Given the description of an element on the screen output the (x, y) to click on. 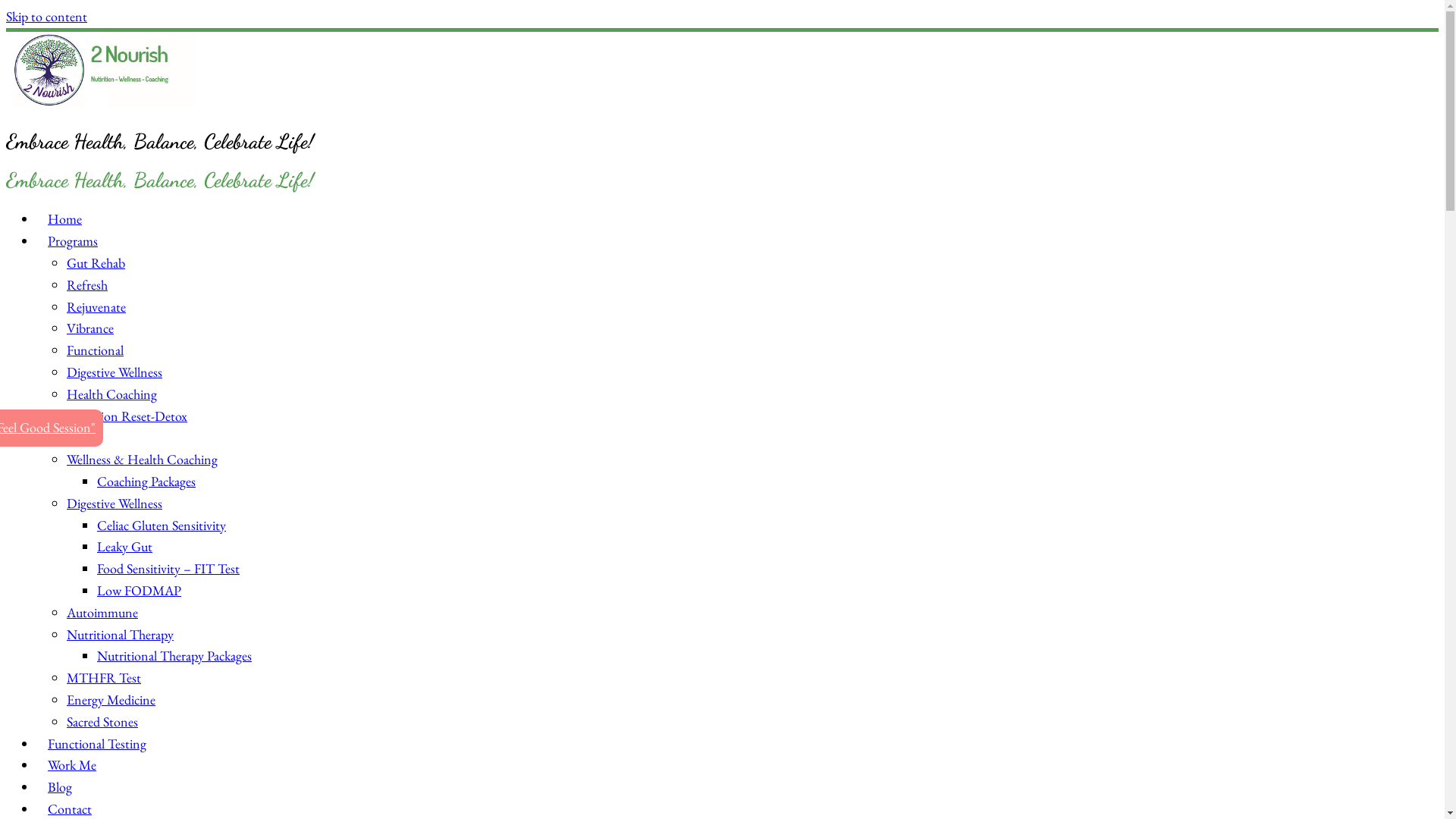
Celiac Gluten Sensitivity Element type: text (161, 524)
Home Element type: text (64, 218)
Work Me Element type: text (71, 764)
Energy Medicine Element type: text (110, 699)
Offerings Element type: text (72, 436)
Skip to content Element type: text (46, 16)
Vibrance Element type: text (89, 327)
Nutrition Reset-Detox Element type: text (126, 415)
Autoimmune Element type: text (102, 612)
Health Coaching Element type: text (111, 393)
Nutritional Therapy Element type: text (119, 634)
Programs Element type: text (72, 240)
Nutritional Therapy Packages Element type: text (174, 655)
Rejuvenate Element type: text (95, 306)
MTHFR Test Element type: text (103, 677)
Sacred Stones Element type: text (102, 721)
Gut Rehab Element type: text (95, 262)
Refresh Element type: text (86, 284)
Functional Testing Element type: text (96, 743)
Digestive Wellness Element type: text (114, 502)
Coaching Packages Element type: text (146, 480)
Wellness & Health Coaching Element type: text (141, 458)
Digestive Wellness Element type: text (114, 371)
Low FODMAP Element type: text (139, 590)
Blog Element type: text (59, 786)
Functional Element type: text (94, 349)
Leaky Gut Element type: text (124, 546)
